Given the description of an element on the screen output the (x, y) to click on. 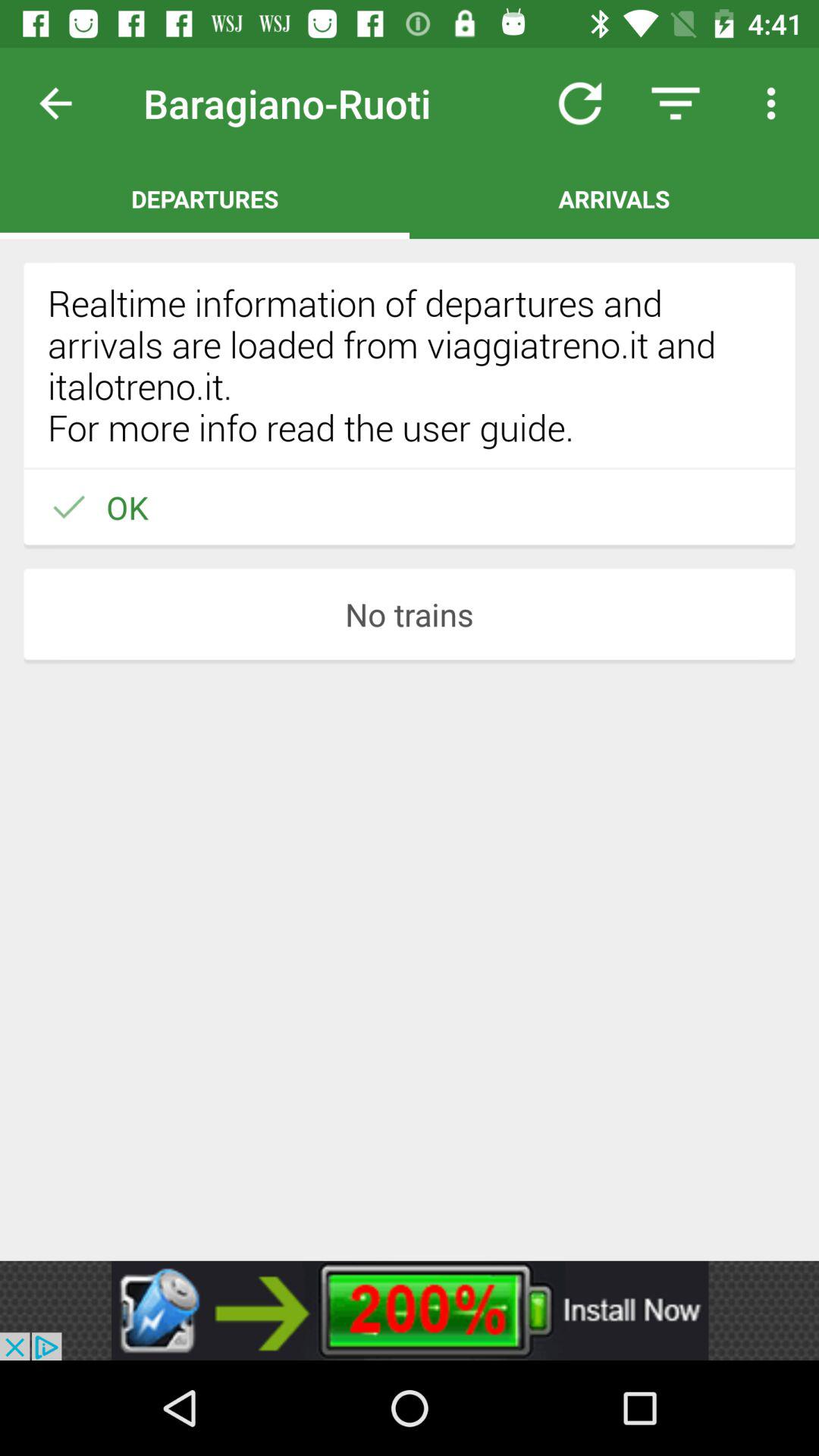
go back (67, 103)
